Given the description of an element on the screen output the (x, y) to click on. 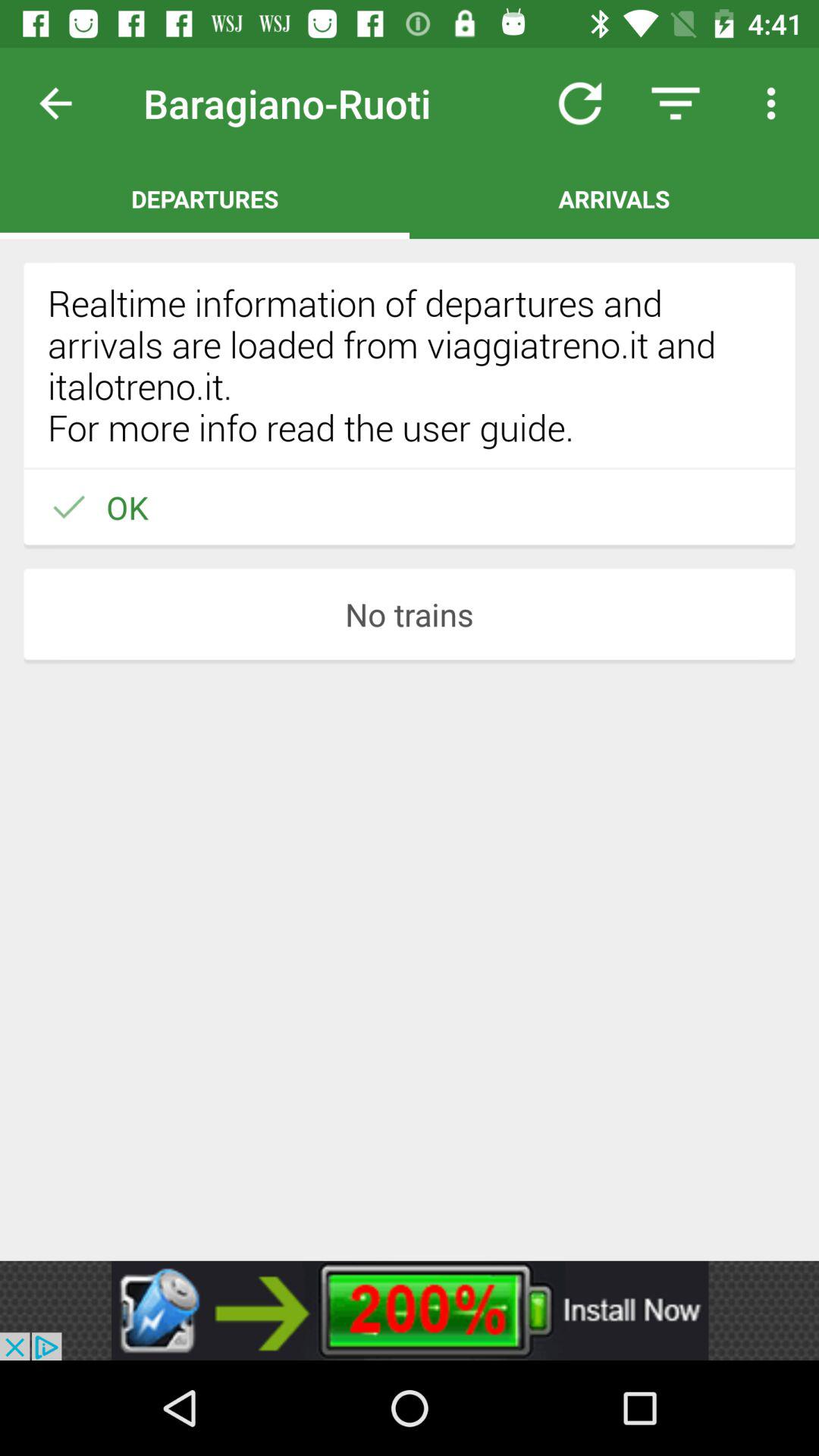
go back (67, 103)
